Given the description of an element on the screen output the (x, y) to click on. 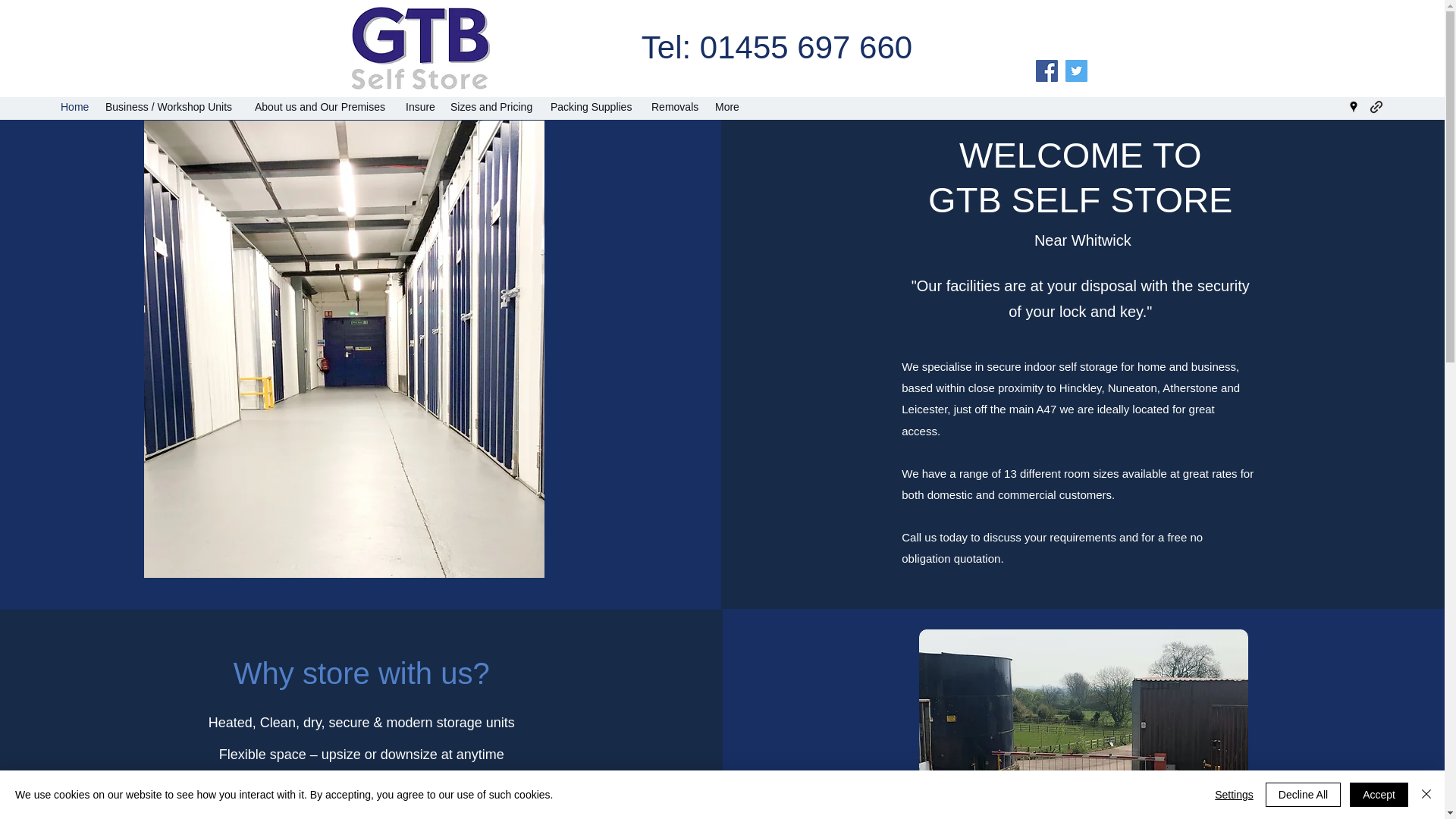
Home (74, 106)
